Given the description of an element on the screen output the (x, y) to click on. 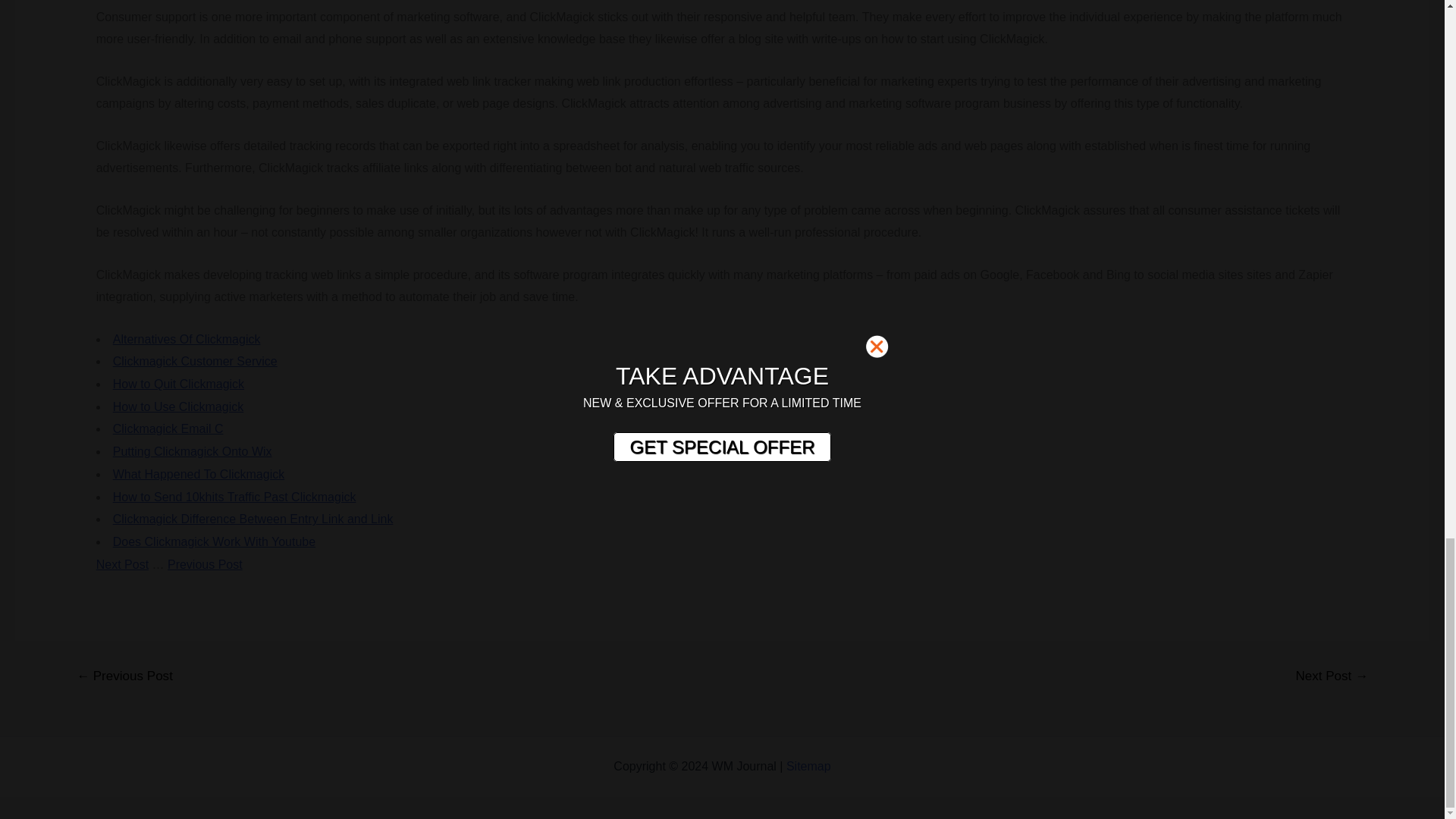
How to Send 10khits Traffic Past Clickmagick (234, 496)
Clickmagick Email C (168, 428)
How to Use Clickmagick (178, 406)
Alternatives Of Clickmagick (186, 338)
Clickmagick Customer Service (195, 360)
How to Send 10khits Traffic Past Clickmagick (234, 496)
Clickmagick Email C (168, 428)
Sitemap (808, 766)
Clickmagick Difference Between Entry Link and Link (253, 518)
Does Clickmagick Work With Youtube (214, 541)
